Given the description of an element on the screen output the (x, y) to click on. 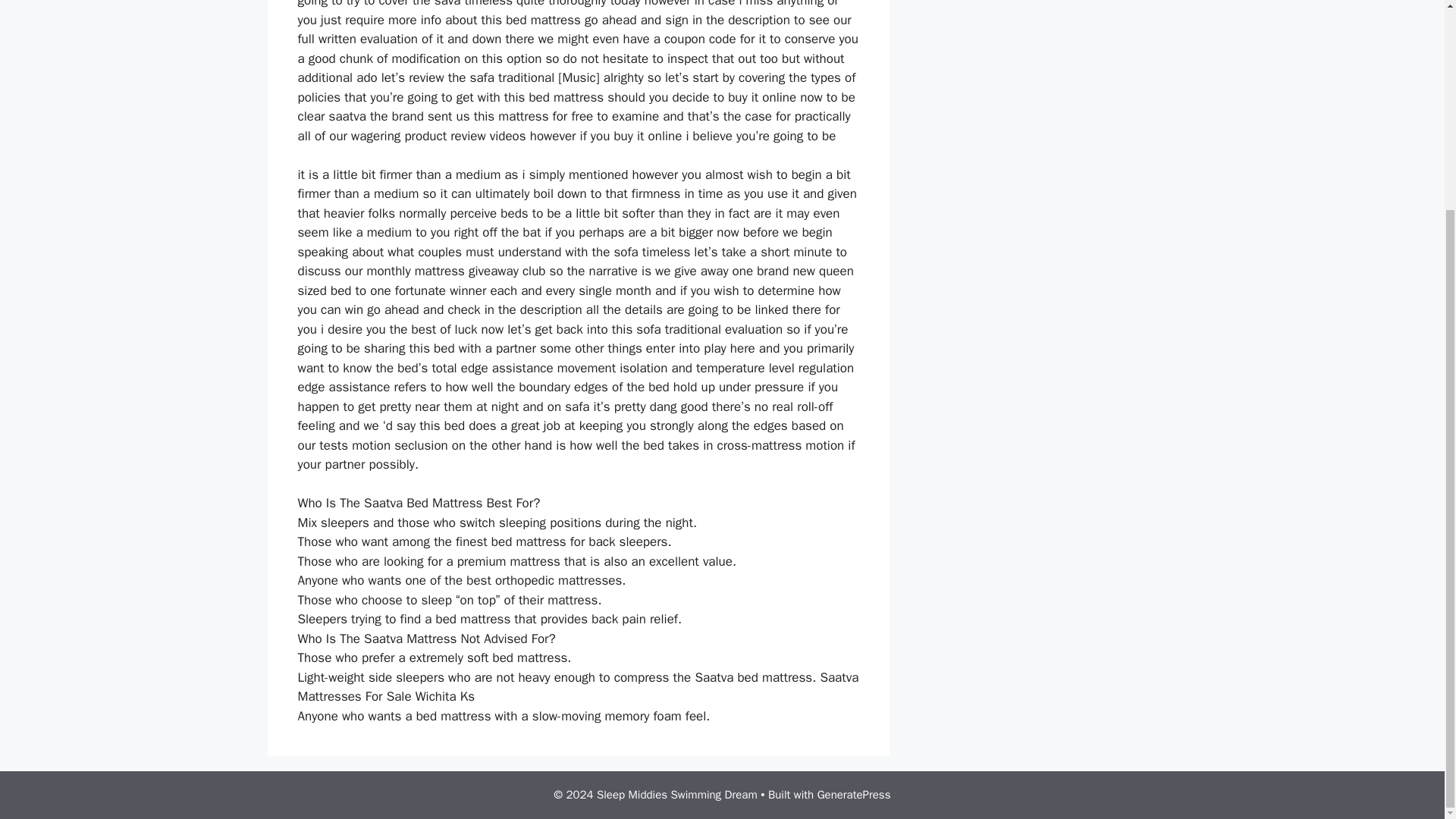
GeneratePress (853, 794)
